Given the description of an element on the screen output the (x, y) to click on. 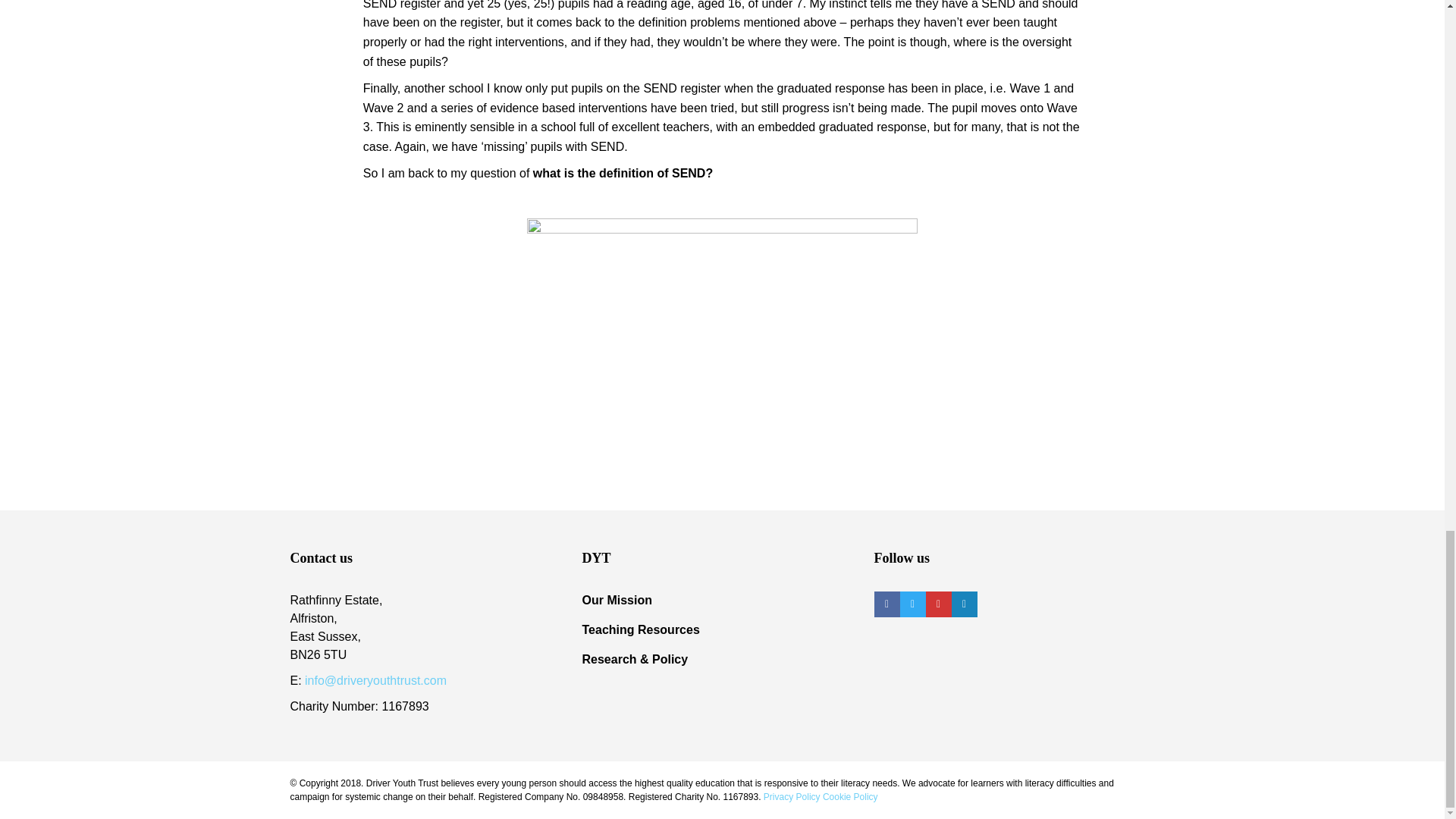
Teaching Resources (641, 629)
Privacy Policy (791, 796)
Our Mission (617, 599)
Cookie Policy (849, 796)
